Given the description of an element on the screen output the (x, y) to click on. 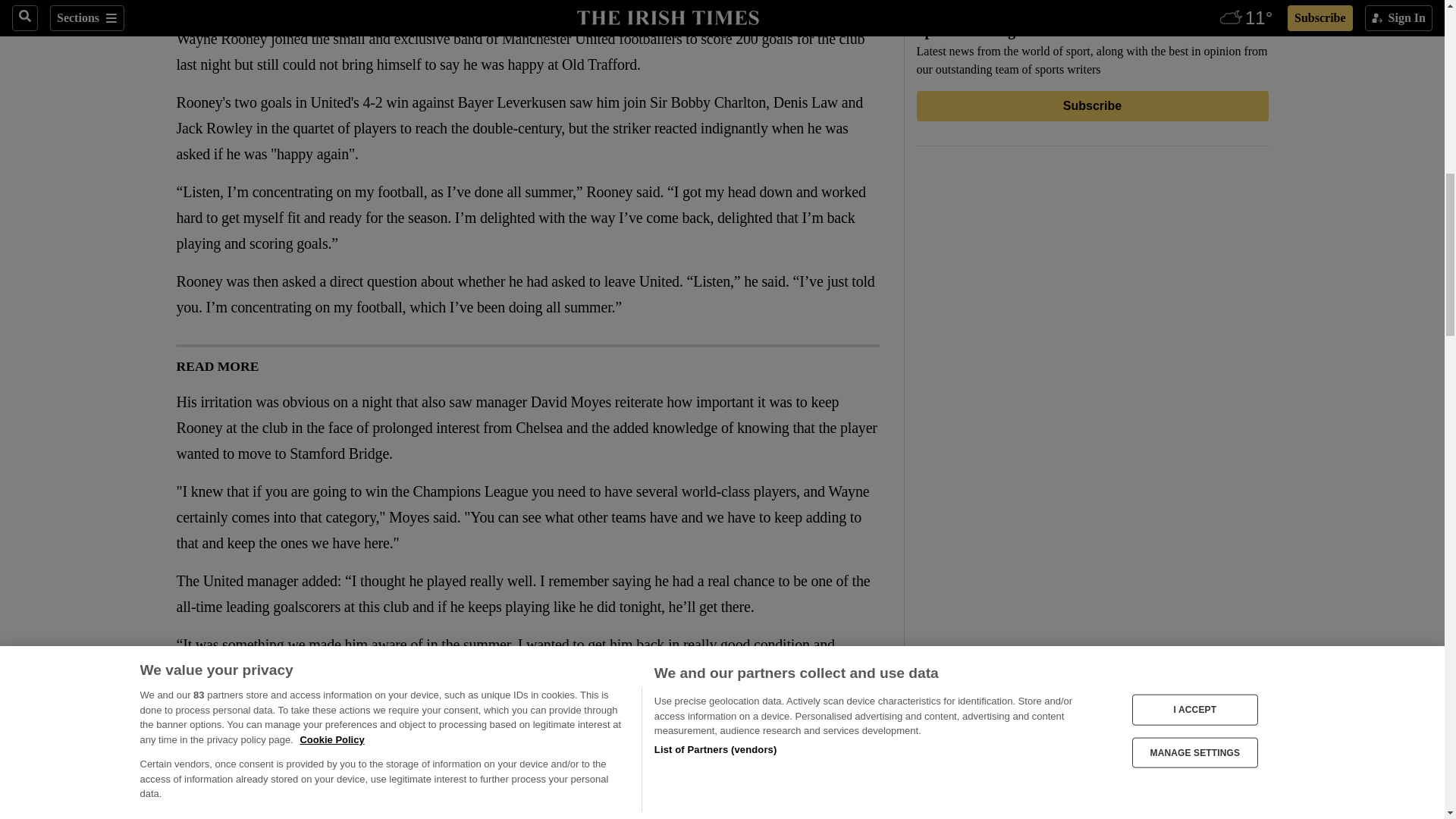
X (215, 6)
Facebook (184, 6)
WhatsApp (244, 6)
